Given the description of an element on the screen output the (x, y) to click on. 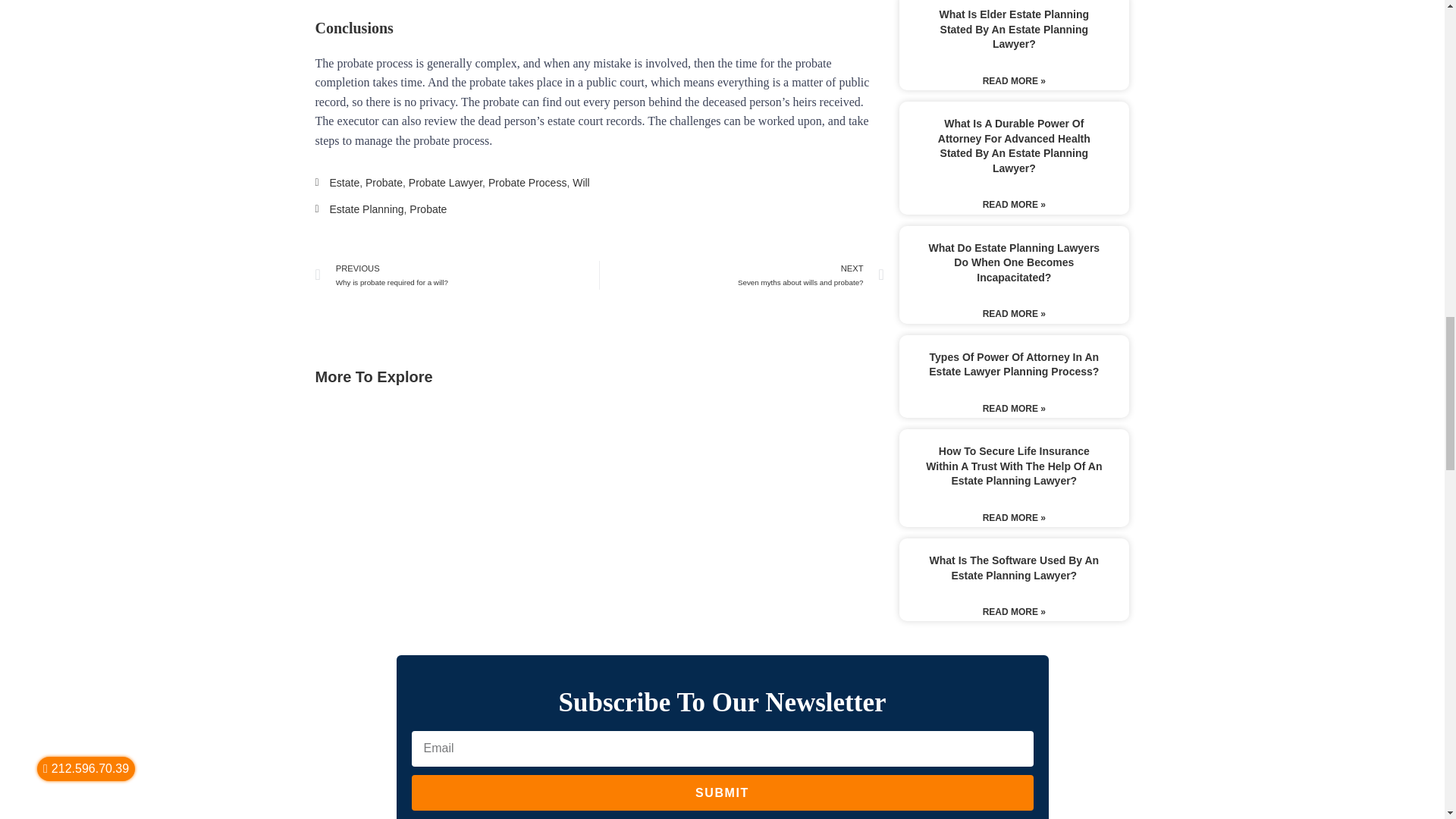
Probate Process (527, 182)
Estate (457, 275)
Probate Lawyer (344, 182)
Probate (445, 182)
Estate Planning (427, 209)
Will (366, 209)
Probate (741, 275)
